Given the description of an element on the screen output the (x, y) to click on. 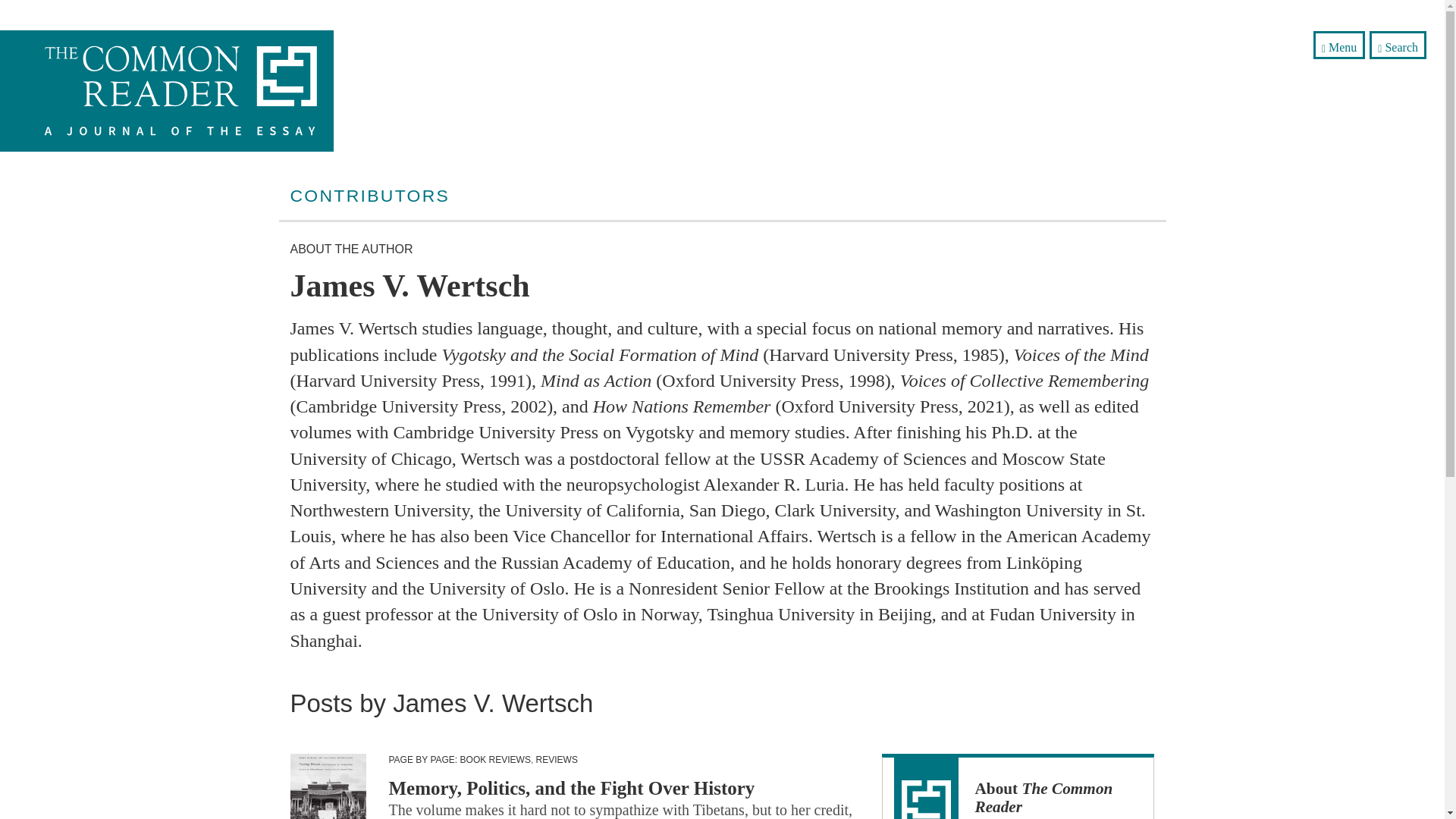
Search (1398, 44)
Menu (1339, 44)
Memory, Politics, and the Fight Over History (571, 788)
CONTRIBUTORS (369, 195)
PAGE BY PAGE: BOOK REVIEWS (458, 759)
REVIEWS (556, 759)
Common Reader (189, 90)
